Given the description of an element on the screen output the (x, y) to click on. 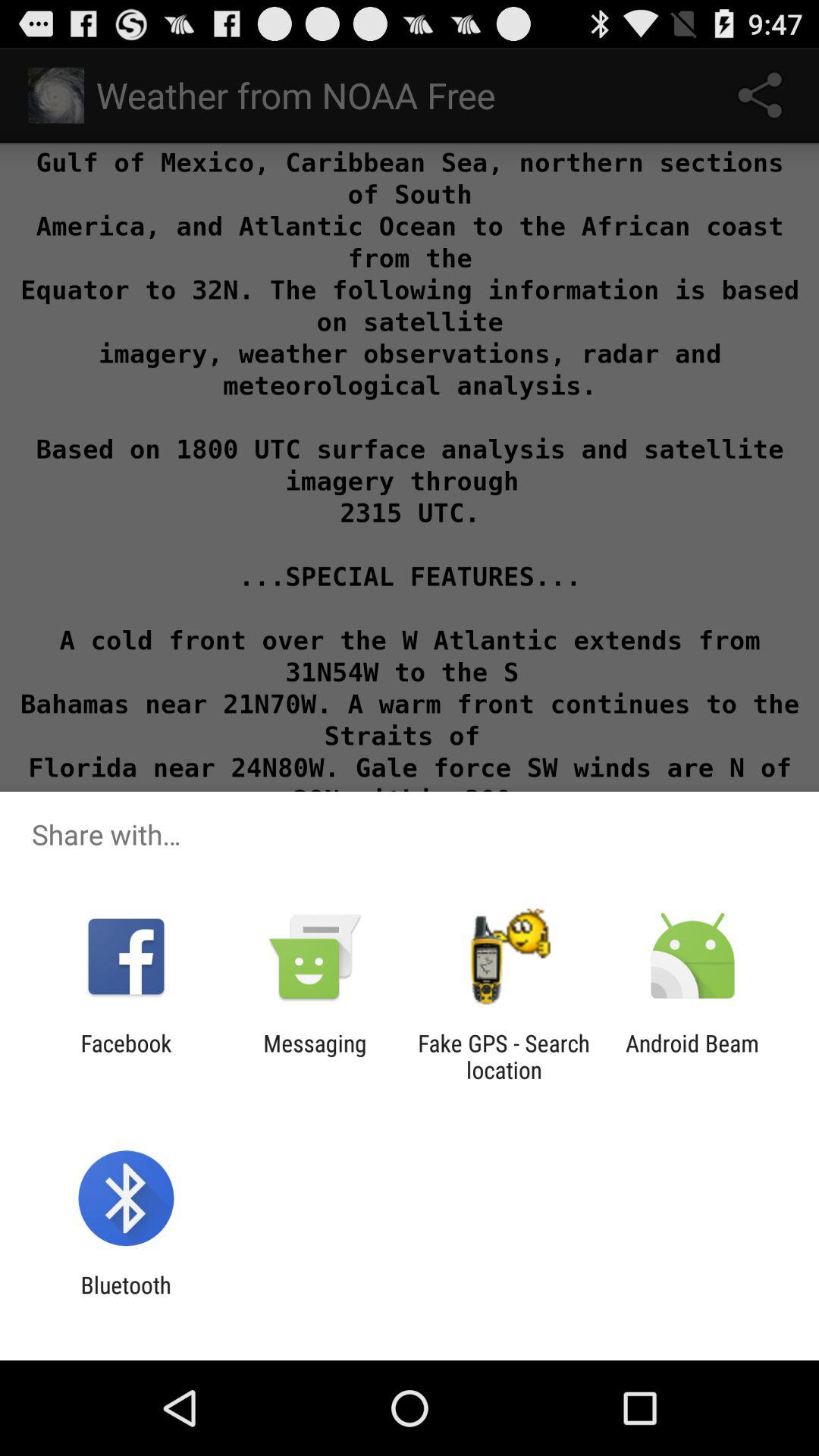
swipe until the android beam (692, 1056)
